Given the description of an element on the screen output the (x, y) to click on. 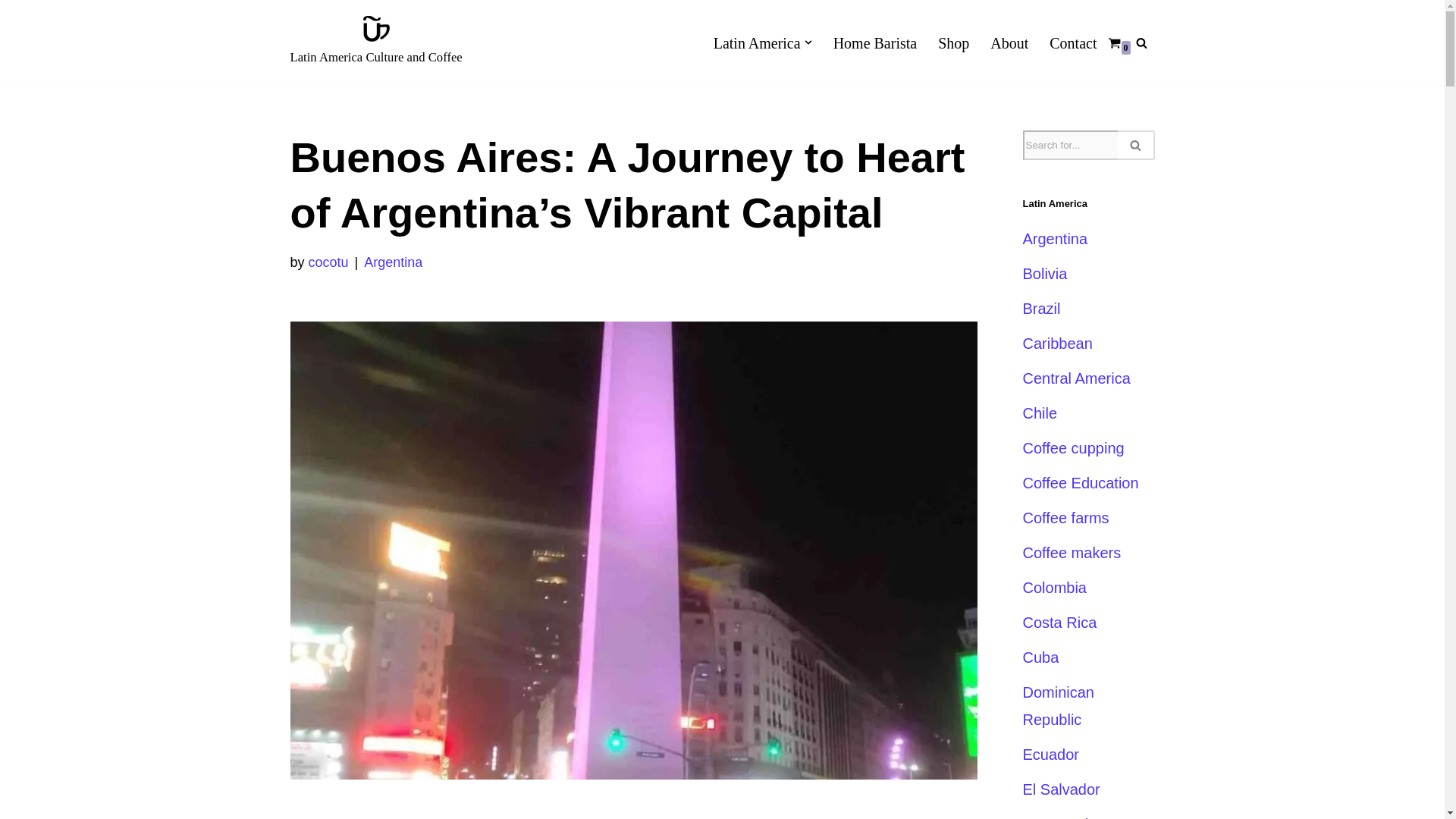
Posts by cocotu (328, 262)
Home Barista (874, 42)
Shop (953, 42)
Contact (1072, 42)
0 (1112, 42)
About (1008, 42)
Latin America (756, 42)
Latin America Culture and Coffee (375, 42)
Skip to content (11, 31)
